Given the description of an element on the screen output the (x, y) to click on. 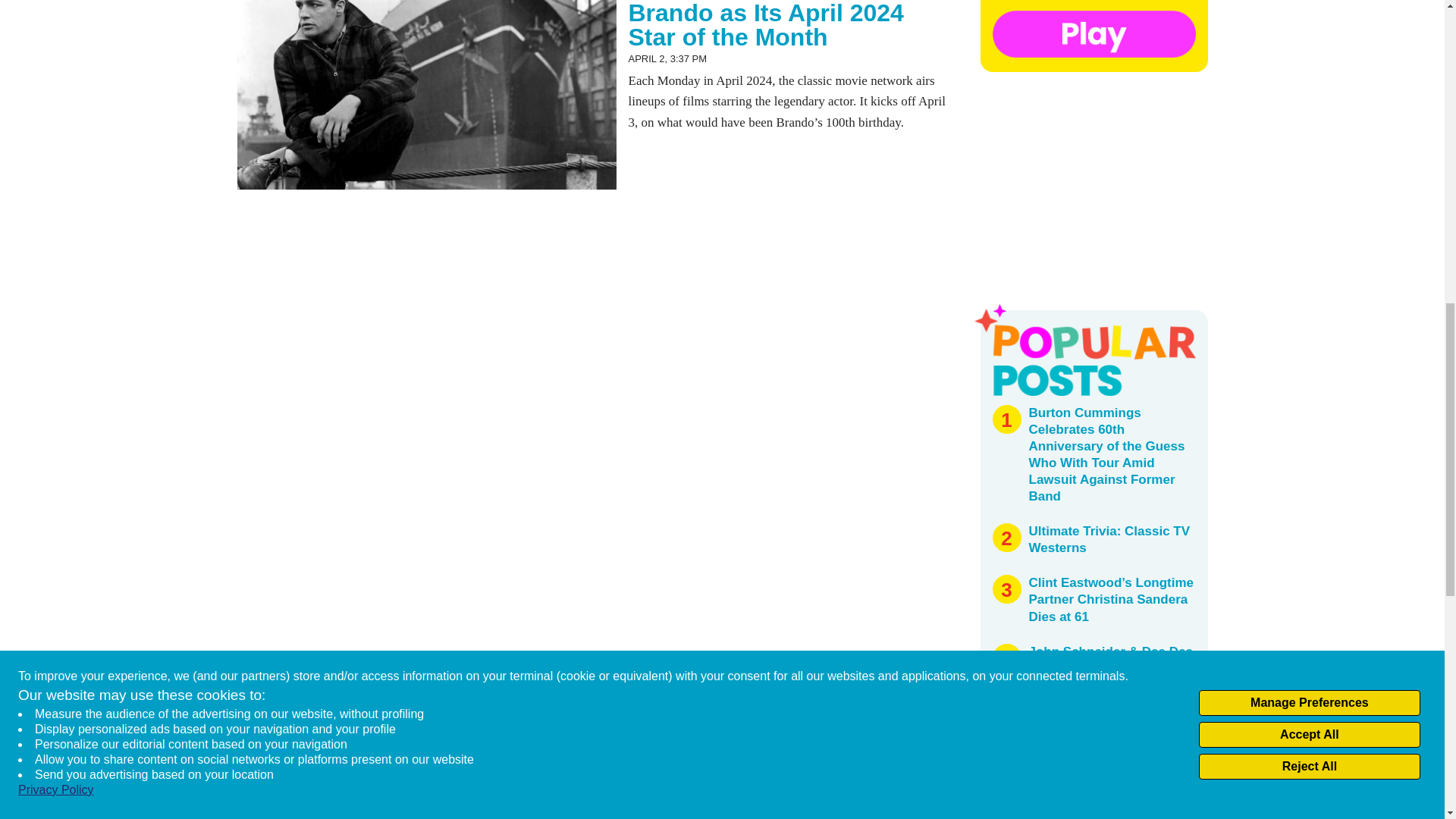
Ultimate Trivia: Classic TV Westerns (1108, 539)
Journey Celebrates 50th Anniversary With a Stadium Tour (1102, 736)
